Given the description of an element on the screen output the (x, y) to click on. 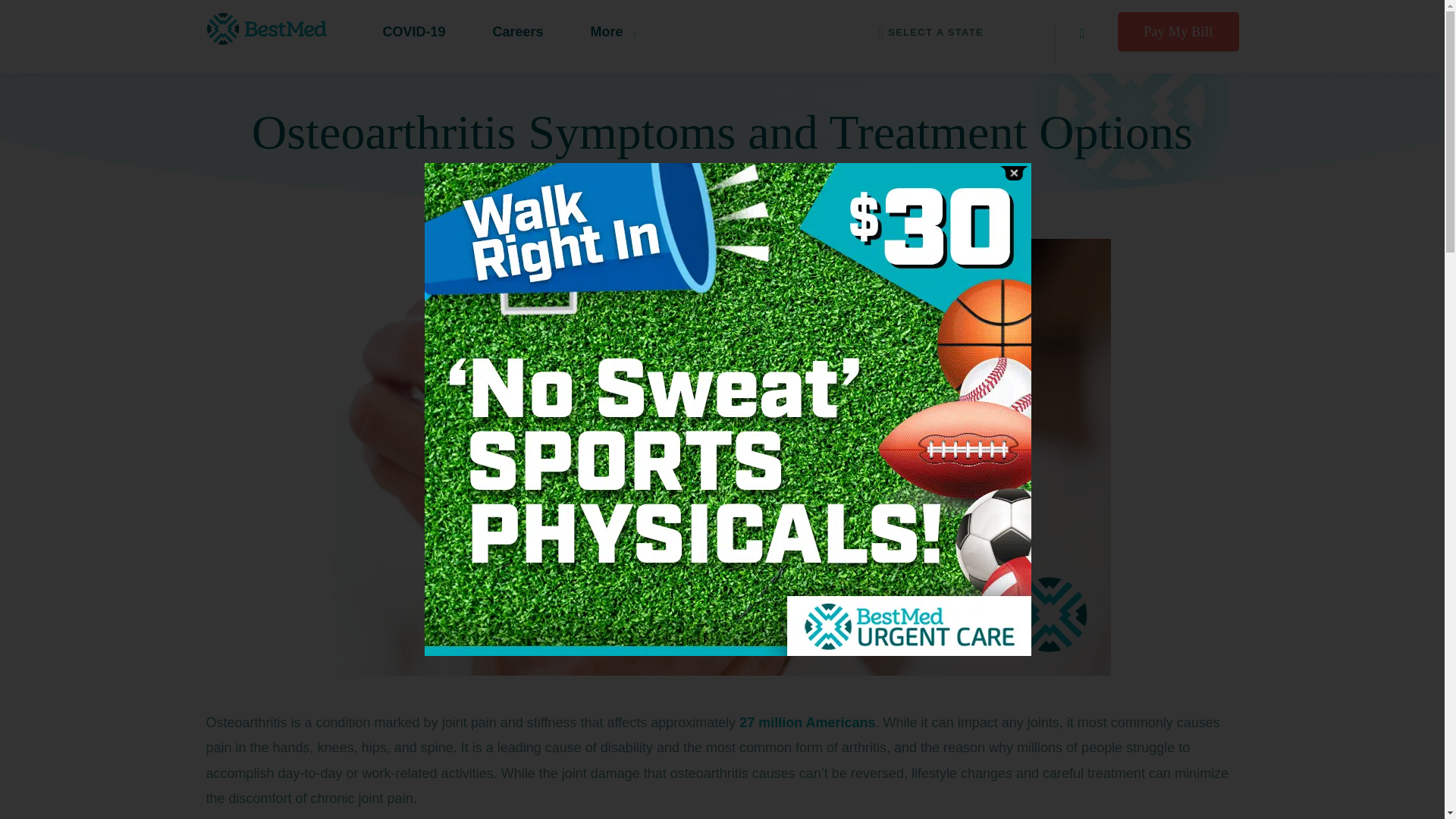
Careers (517, 34)
More (606, 34)
COVID-19 (413, 34)
Pay My Bill (1178, 31)
Close (1012, 173)
27 million Americans (807, 722)
